Given the description of an element on the screen output the (x, y) to click on. 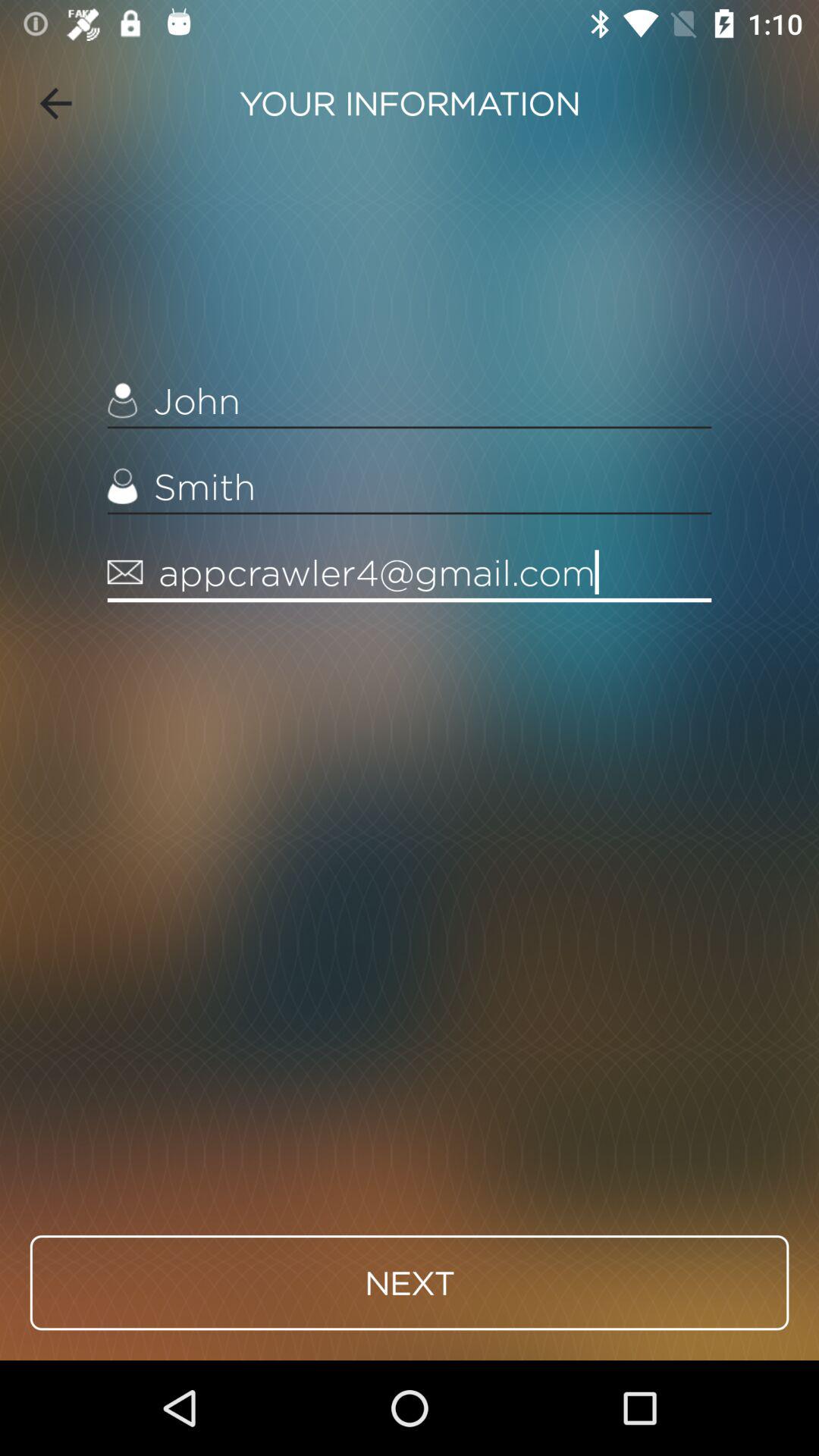
turn off item below the smith (409, 572)
